Given the description of an element on the screen output the (x, y) to click on. 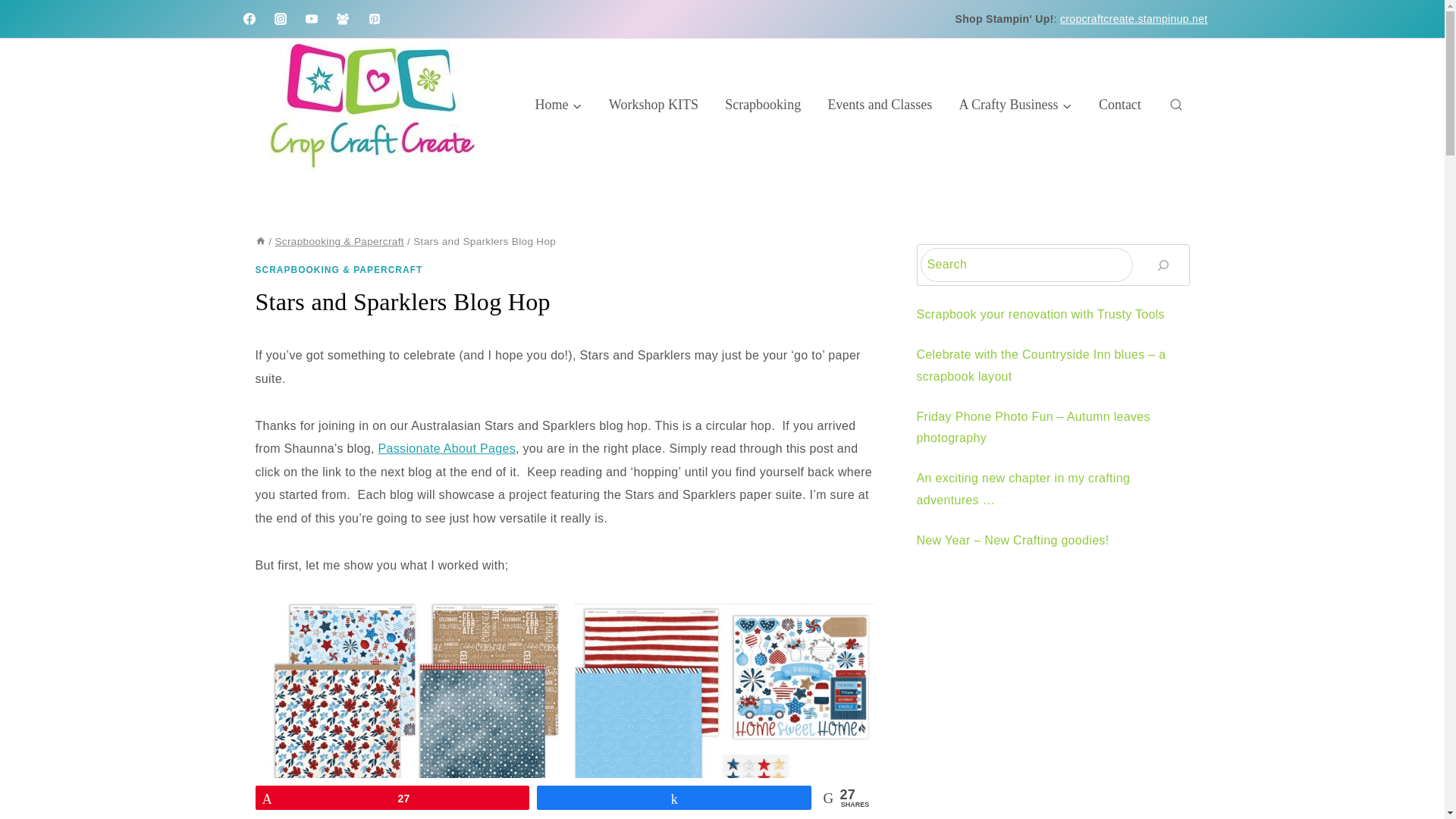
Passionate About Pages (446, 448)
Workshop KITS (653, 104)
Events and Classes (878, 104)
Home (558, 104)
cropcraftcreate.stampinup.net (1133, 19)
Home (259, 241)
A Crafty Business (1014, 104)
Contact (1119, 104)
Scrapbooking (762, 104)
